Given the description of an element on the screen output the (x, y) to click on. 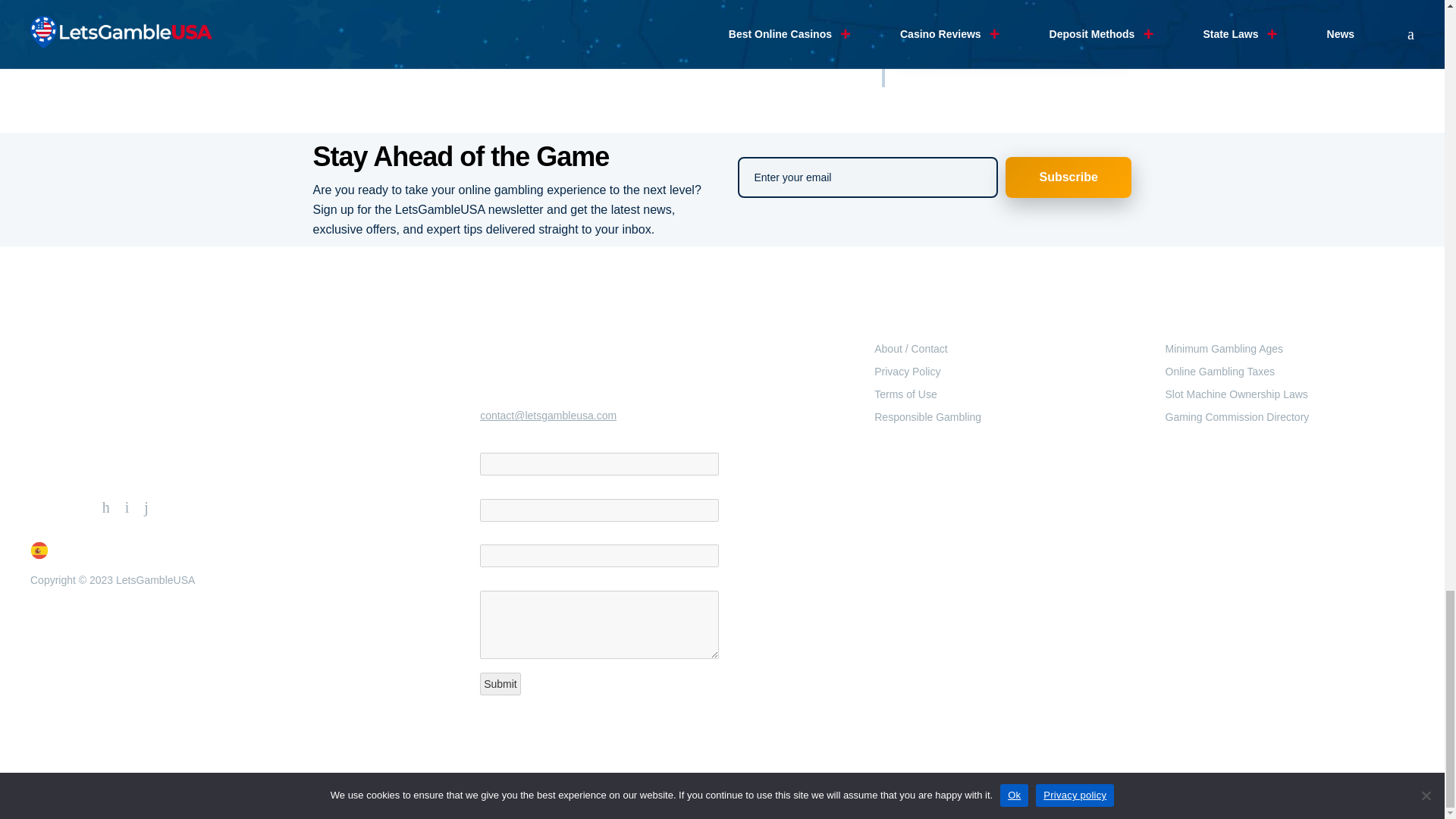
Submit (500, 683)
Subscribe (1069, 177)
